Given the description of an element on the screen output the (x, y) to click on. 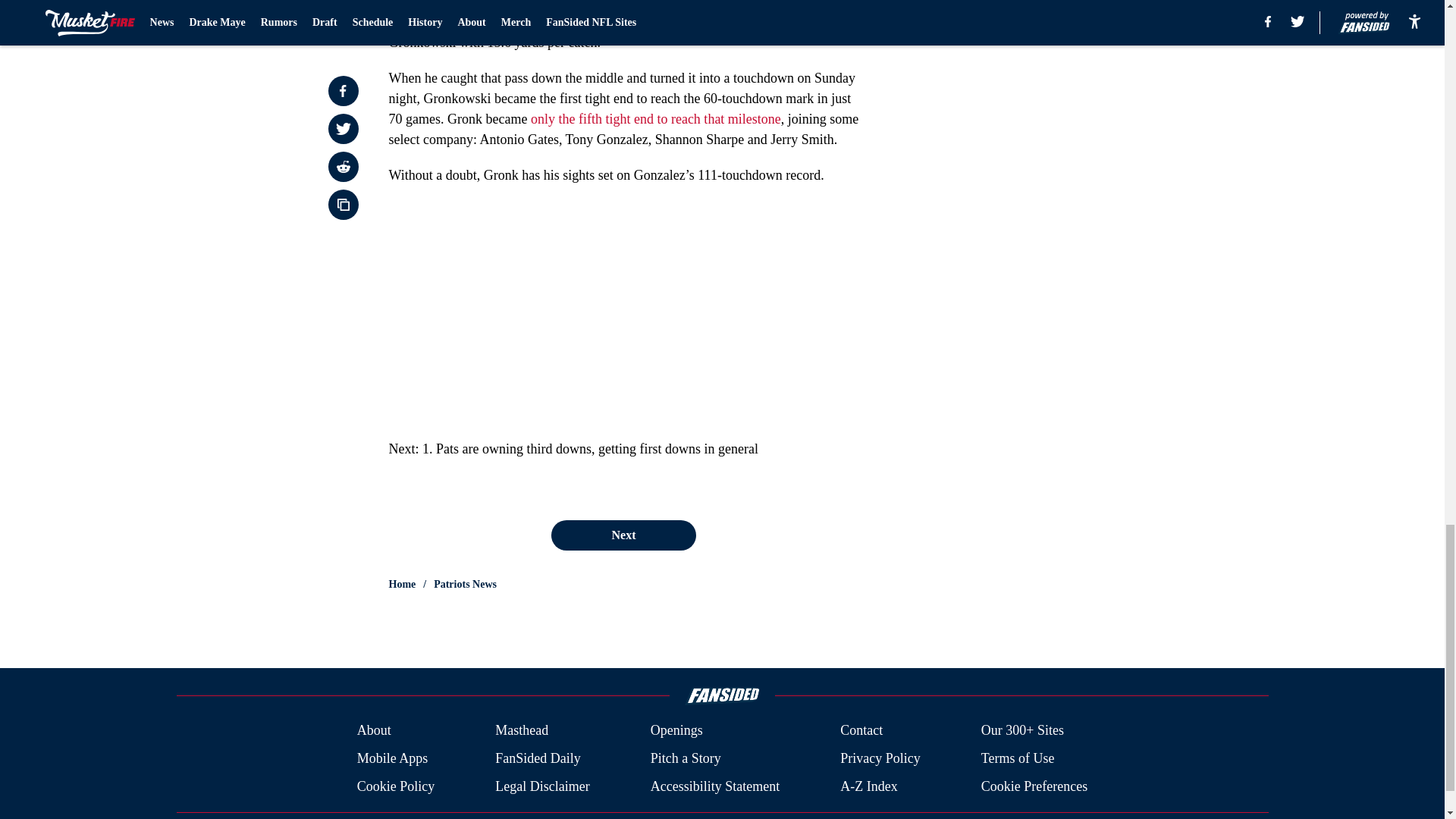
FanSided Daily (537, 758)
About (373, 730)
Home (401, 584)
Contact (861, 730)
Openings (676, 730)
only the fifth tight end to reach that milestone (655, 118)
Patriots News (464, 584)
Next (622, 535)
Masthead (521, 730)
Mobile Apps (392, 758)
